Given the description of an element on the screen output the (x, y) to click on. 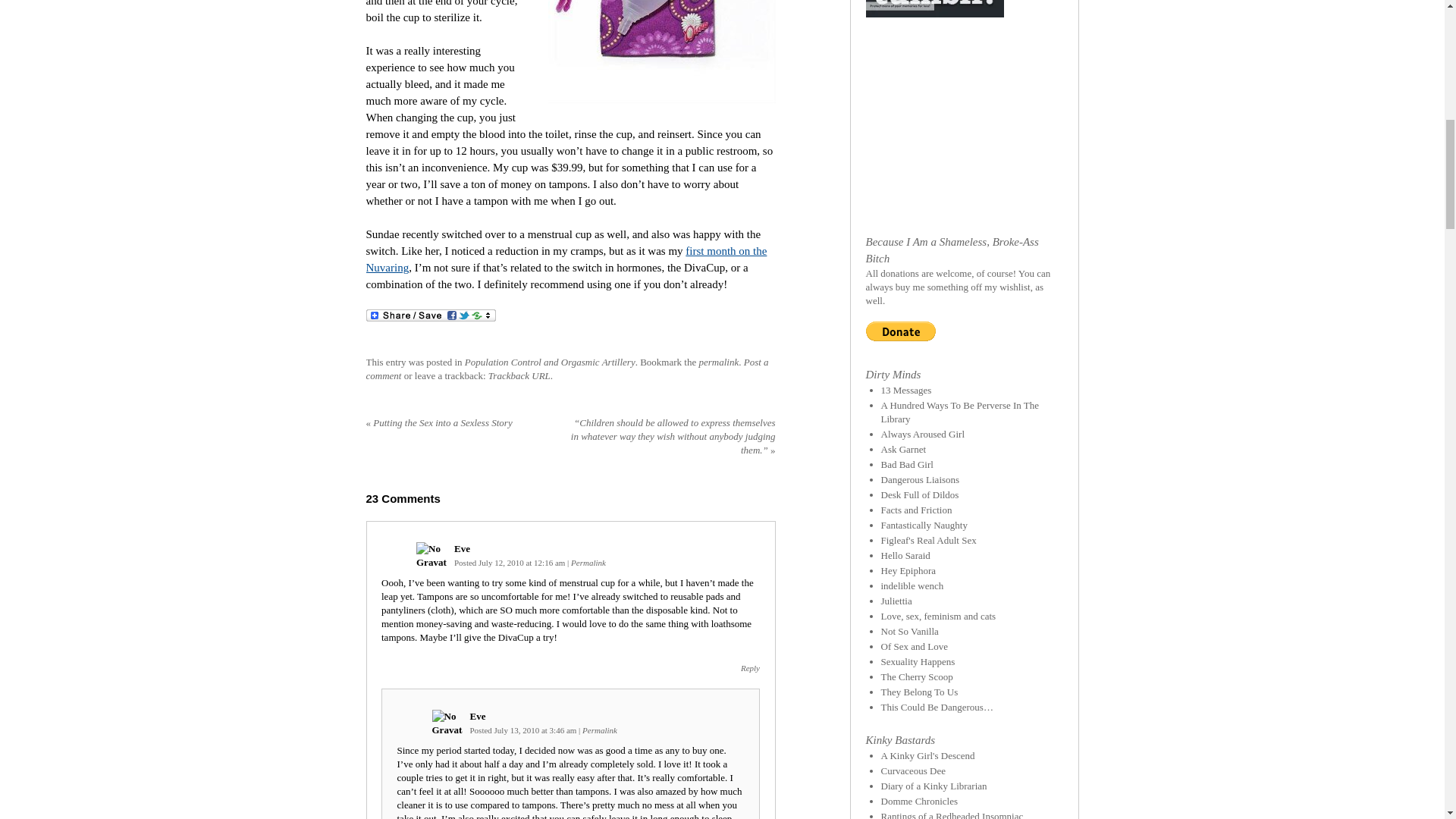
Trackback URL (518, 375)
first month on the Nuvaring (566, 258)
diva-cup (660, 51)
Permalink (587, 562)
Population Control and Orgasmic Artillery (549, 361)
Permalink (599, 729)
permalink (718, 361)
Post a comment (566, 368)
View all posts in Population Control and Orgasmic Artillery (549, 361)
